Given the description of an element on the screen output the (x, y) to click on. 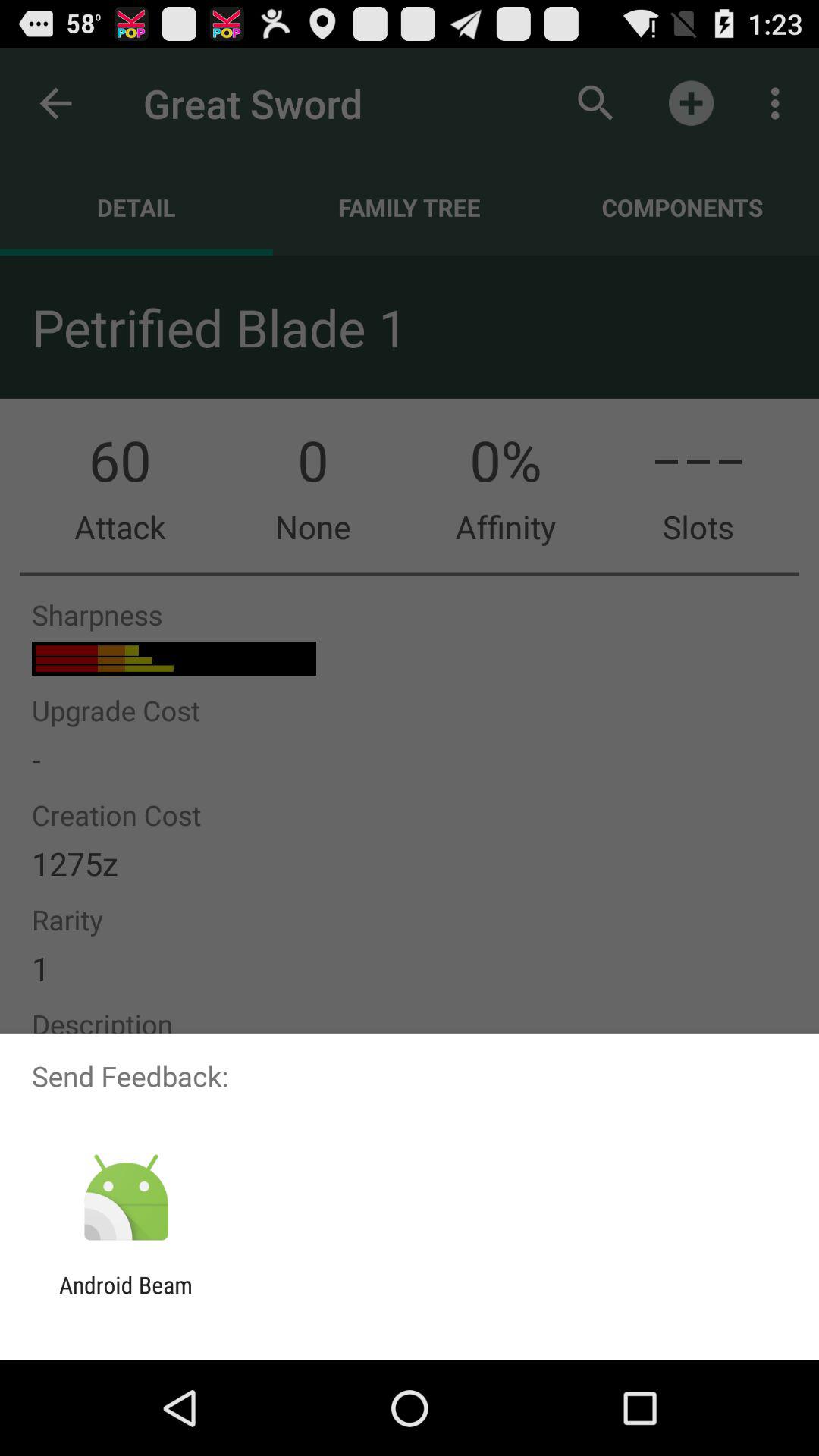
launch app above android beam item (126, 1198)
